Given the description of an element on the screen output the (x, y) to click on. 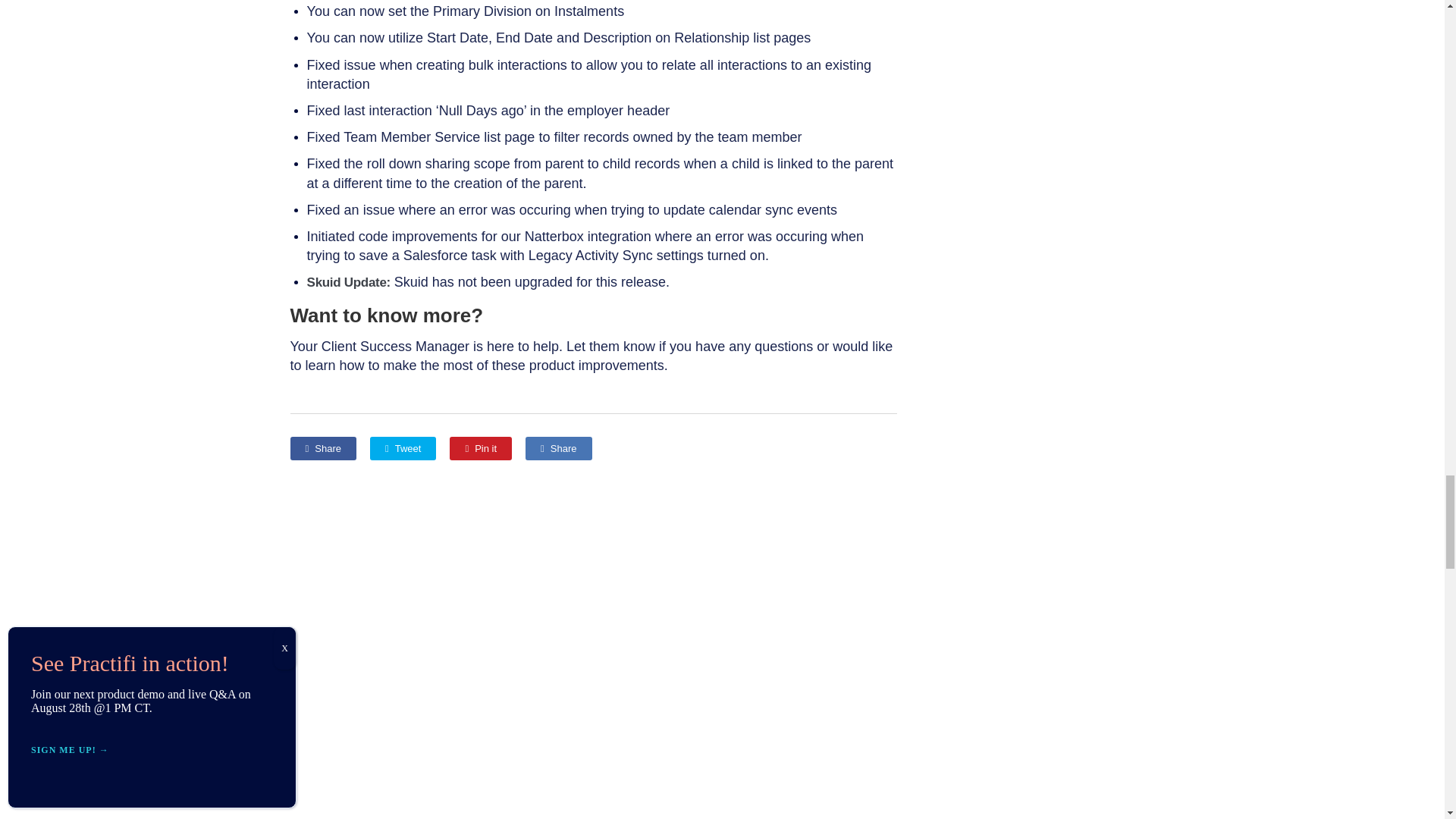
Share (322, 448)
Pin it (480, 448)
Tweet (402, 448)
Share (558, 448)
